Given the description of an element on the screen output the (x, y) to click on. 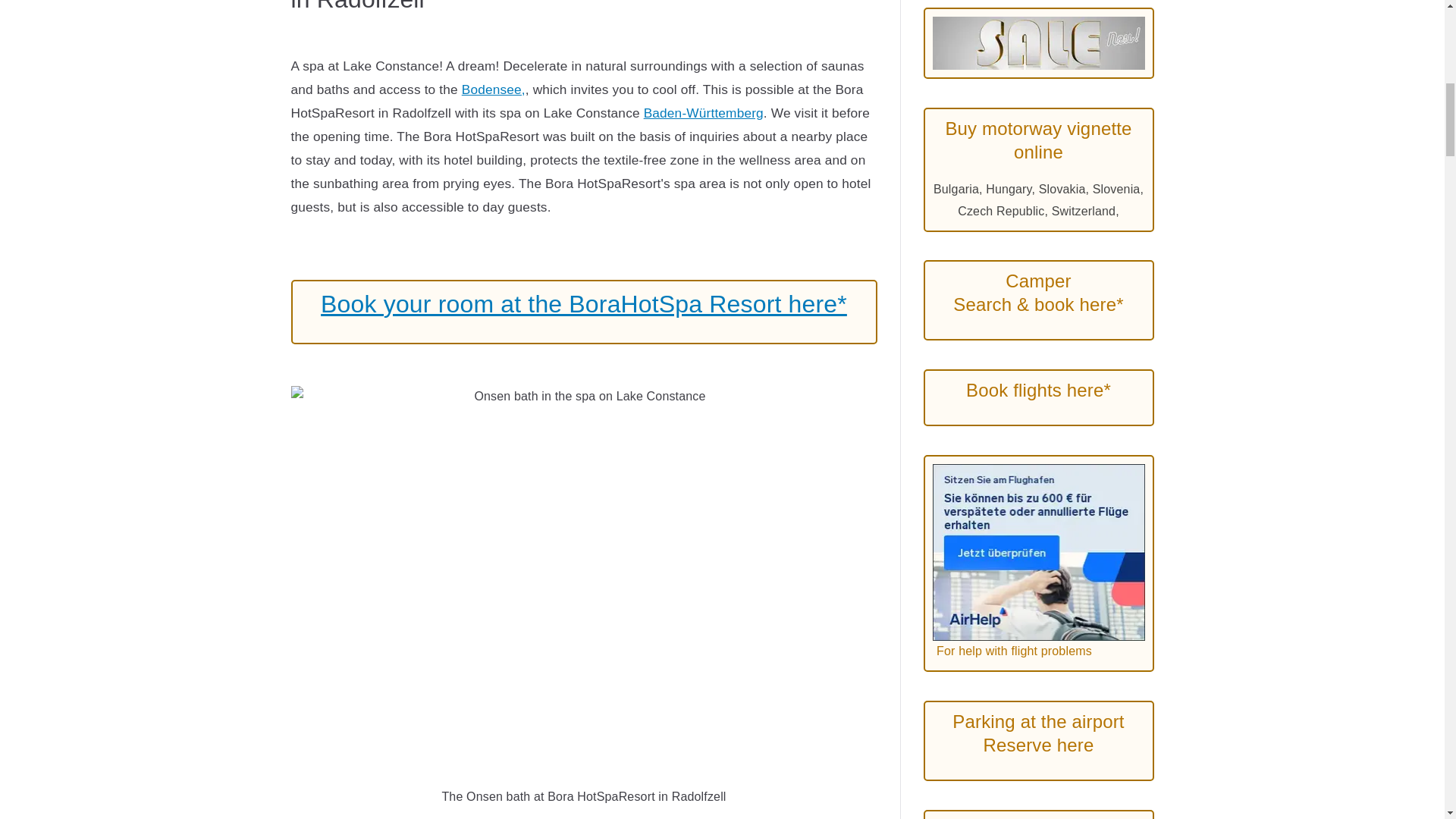
Bodensee, (493, 89)
